Given the description of an element on the screen output the (x, y) to click on. 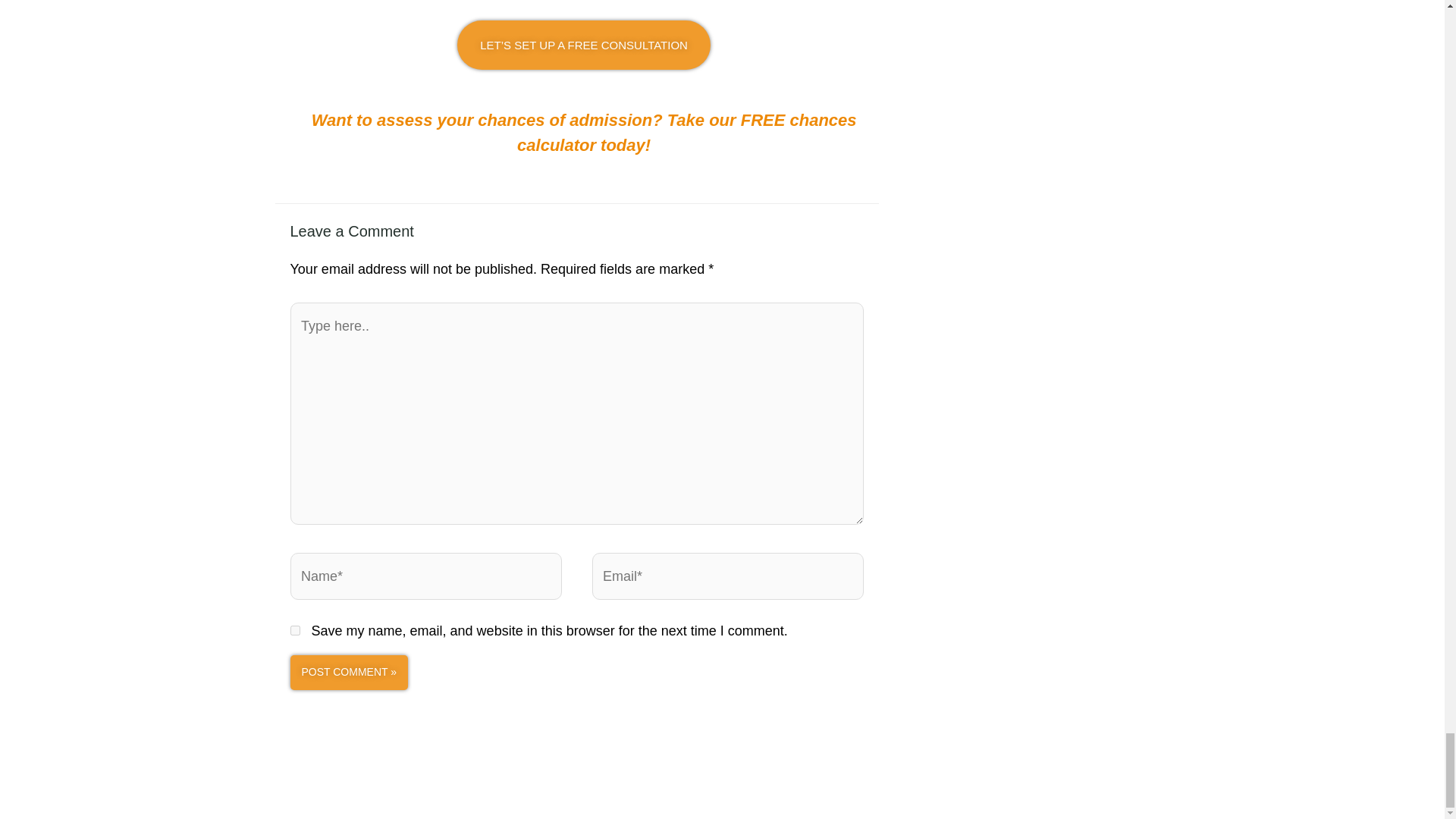
yes (294, 630)
